Given the description of an element on the screen output the (x, y) to click on. 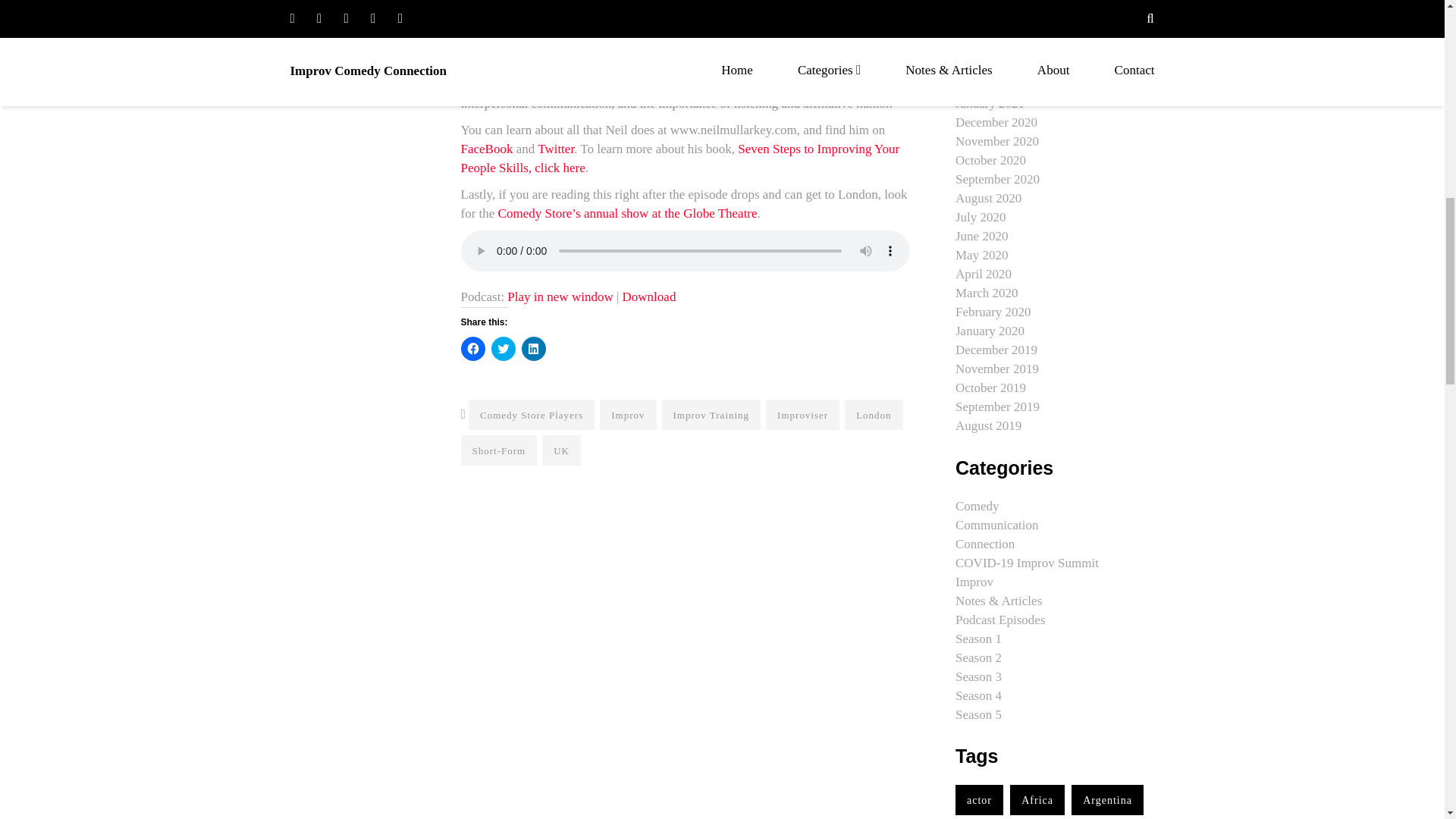
Comedy Store Players (531, 414)
FaceBook (487, 148)
Click to share on LinkedIn (533, 348)
Improv (627, 414)
London (873, 414)
Improv Training (711, 414)
Download (650, 296)
Click to share on Twitter (503, 348)
Play in new window (559, 296)
Short-Form (499, 450)
Download (650, 296)
Play in new window (559, 296)
Twitter (555, 148)
Seven Steps to Improving Your People Skills, click here (680, 158)
Improviser (802, 414)
